Given the description of an element on the screen output the (x, y) to click on. 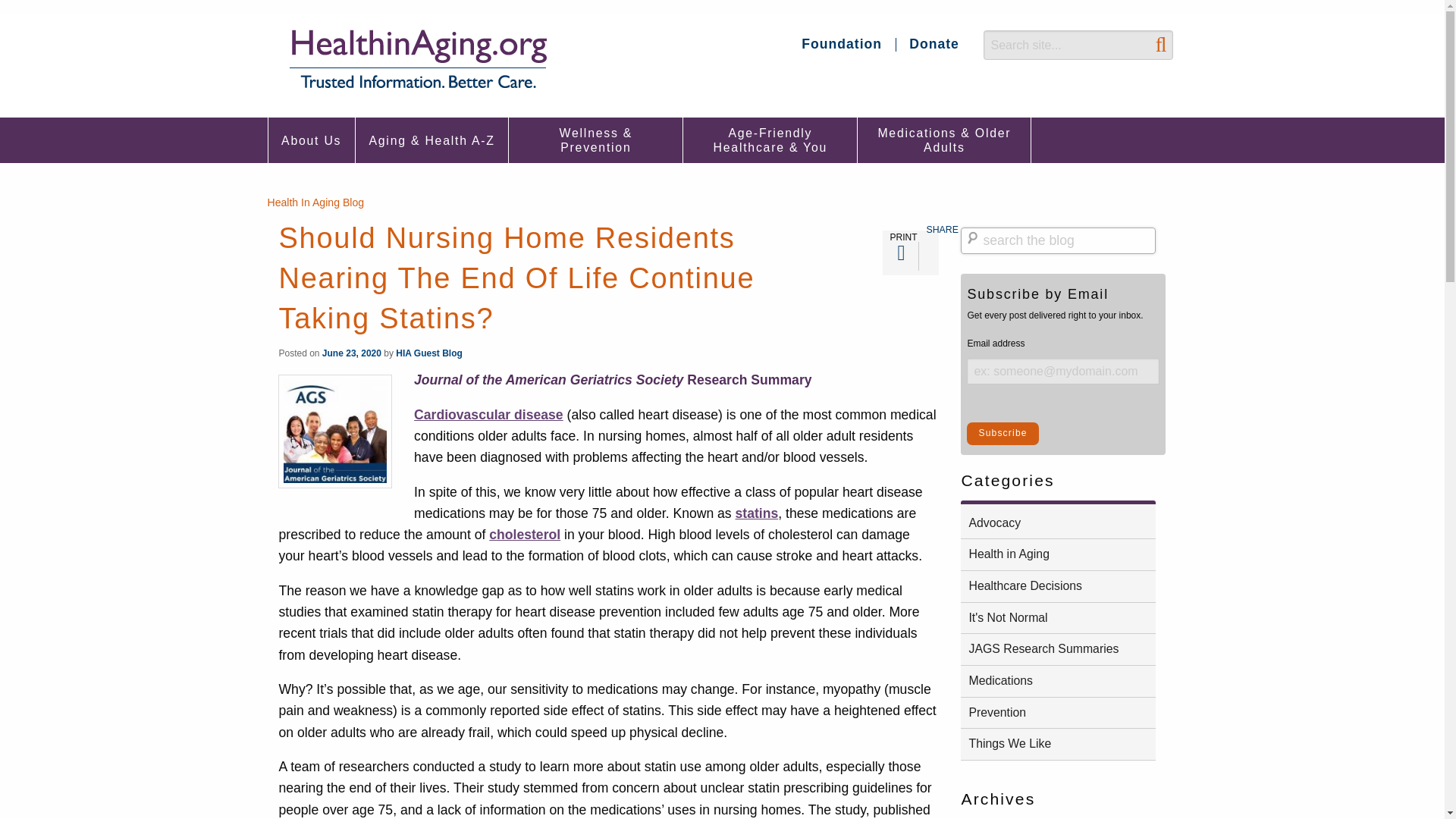
Subscribe (1002, 433)
4:45 PM (351, 353)
Home (417, 58)
HIA Guest Blog (429, 353)
Health in Aging (1058, 554)
Subscribe (1002, 433)
Advocacy (1058, 523)
June 23, 2020 (351, 353)
Print (903, 256)
JAGS Research Summaries (1058, 649)
